Given the description of an element on the screen output the (x, y) to click on. 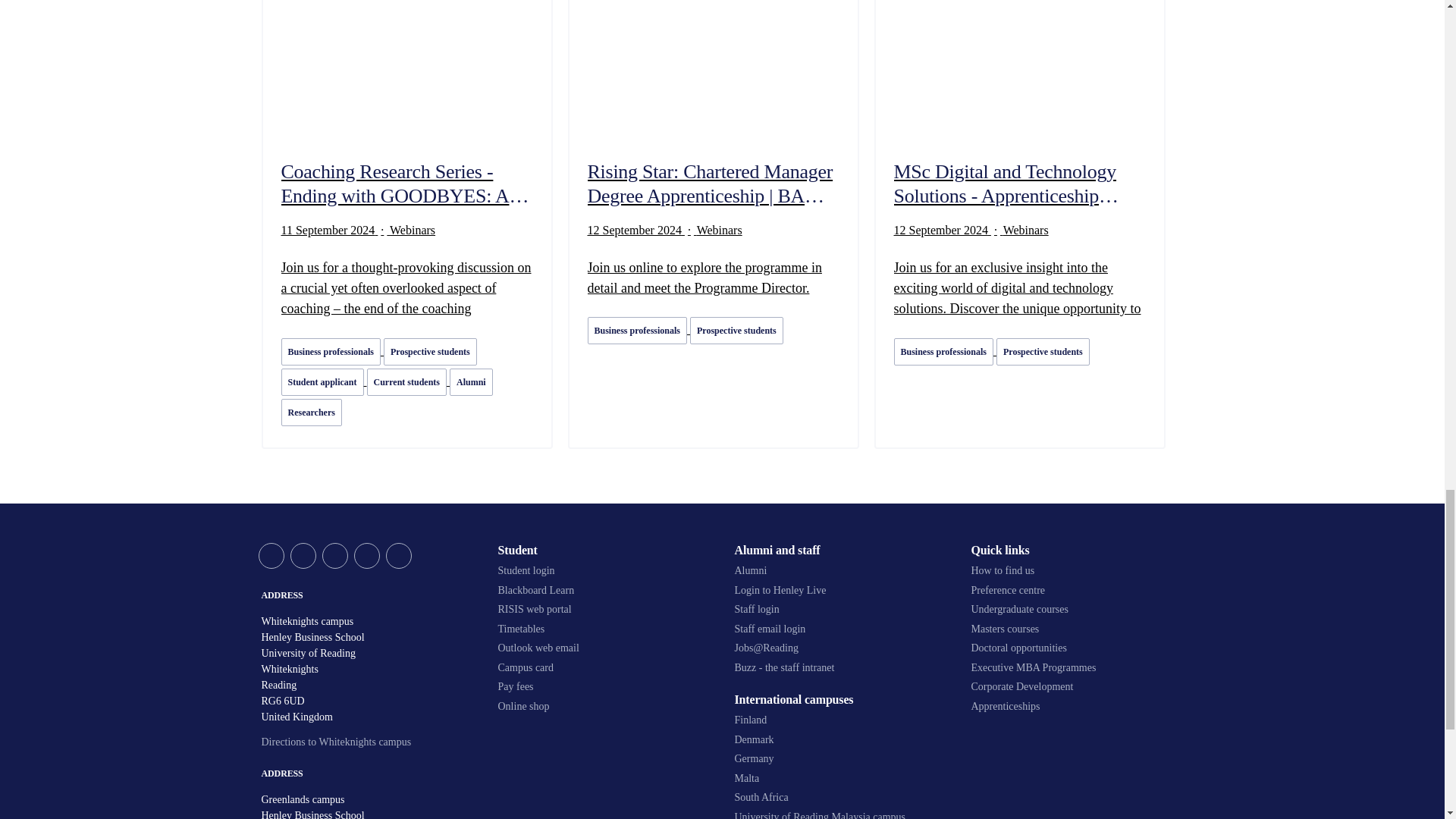
Finland (839, 720)
Denmark (839, 739)
Facebook (302, 555)
Online shop (603, 706)
Twitter (270, 555)
Buzz - the staff intranet (839, 667)
Linkedin (365, 555)
Outlook web email (603, 648)
Instagram (397, 555)
RISIS web portal (603, 609)
